Given the description of an element on the screen output the (x, y) to click on. 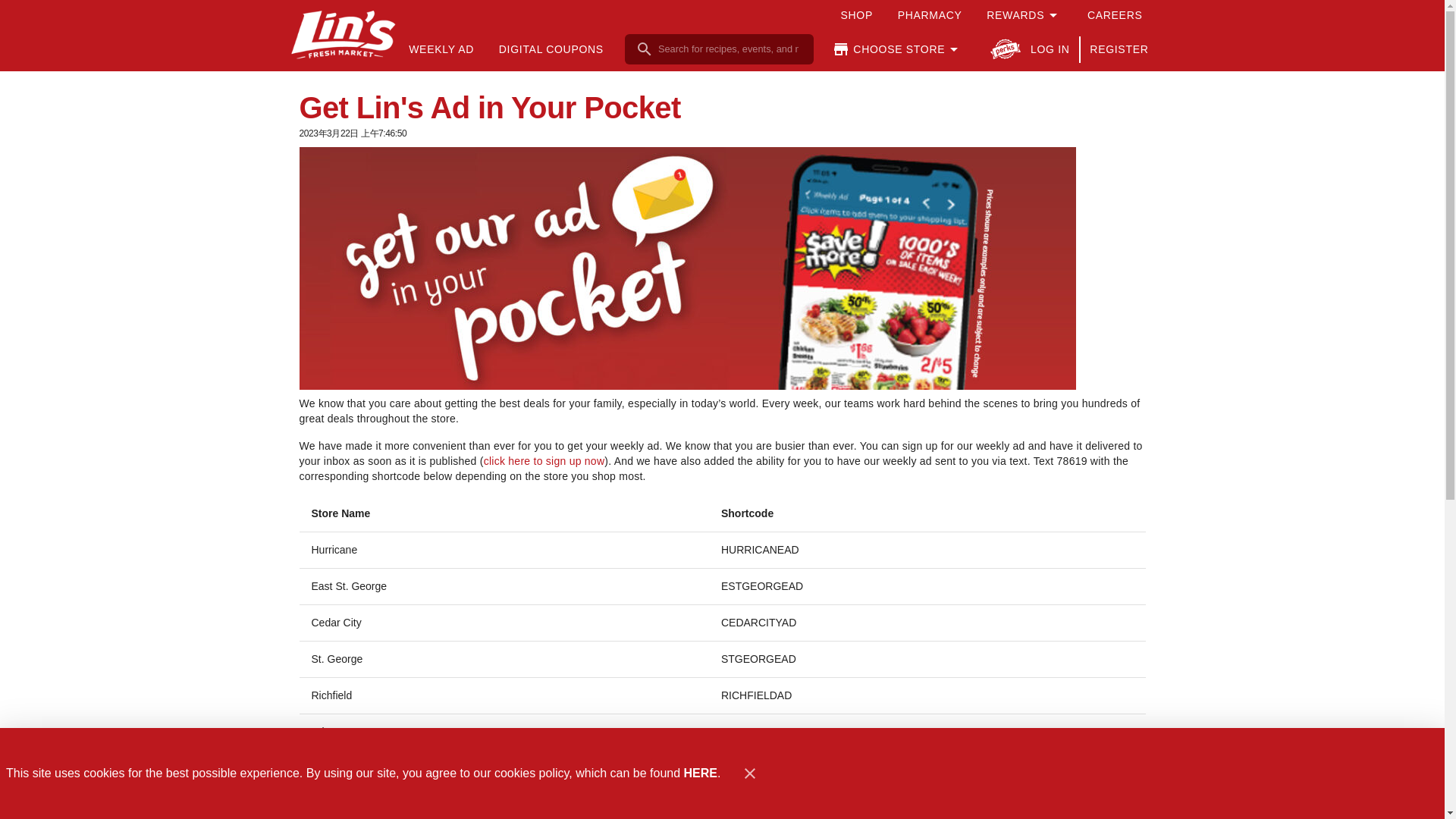
PHARMACY (929, 15)
WEEKLY AD (440, 49)
REWARDS (1024, 15)
BACK TO BLOG HOME (1070, 806)
click here to sign up now (544, 460)
CHOOSE STORE (897, 49)
CAREERS (1113, 15)
LOG IN (1048, 49)
DIGITAL COUPONS (551, 49)
REGISTER (1118, 49)
